Given the description of an element on the screen output the (x, y) to click on. 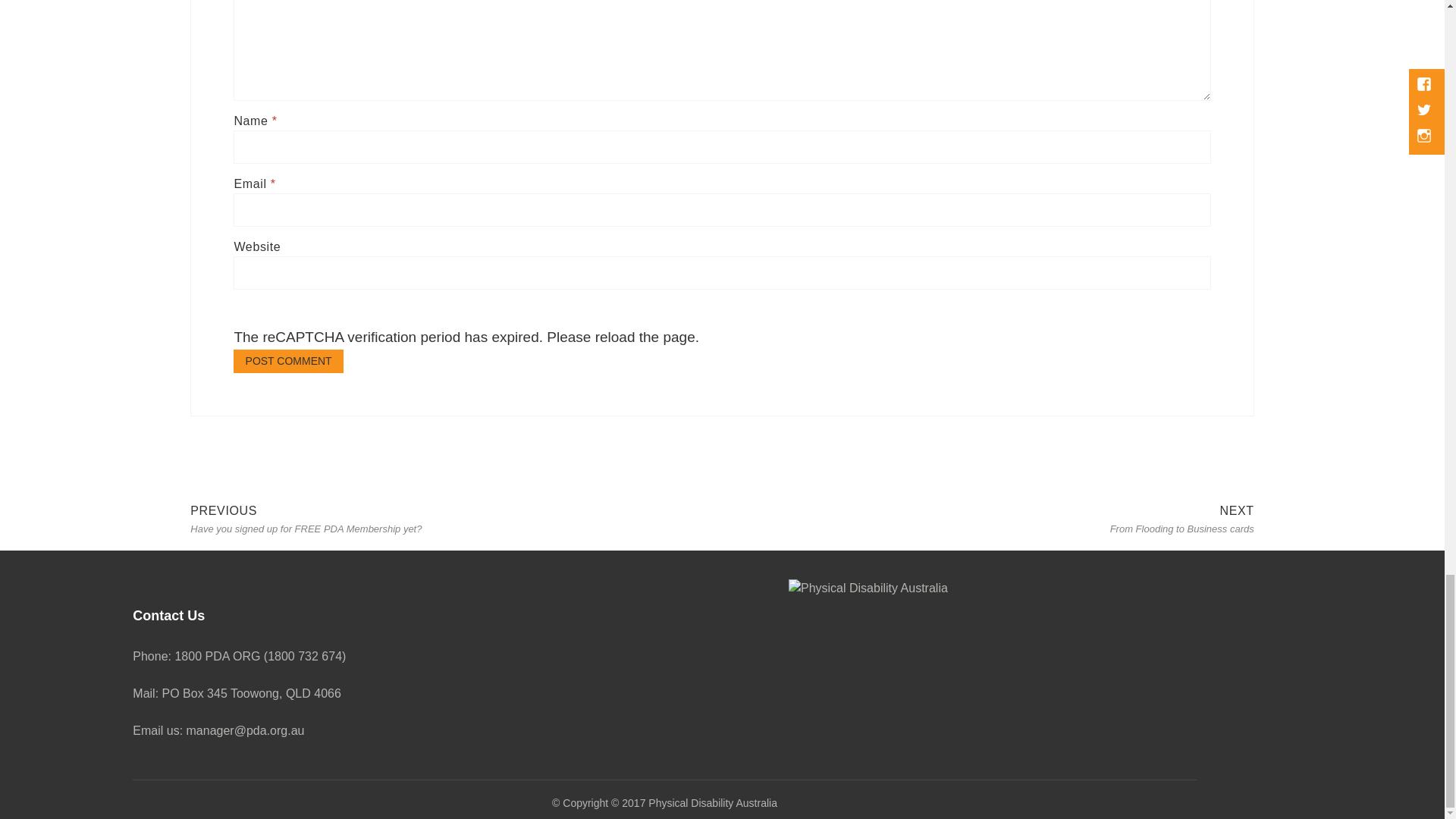
Physical Disability Australia (669, 802)
PO Box 345 Toowong, QLD 4066 (250, 694)
Post Comment (287, 361)
Post Comment (287, 361)
Physical Disability Australia (987, 516)
